Given the description of an element on the screen output the (x, y) to click on. 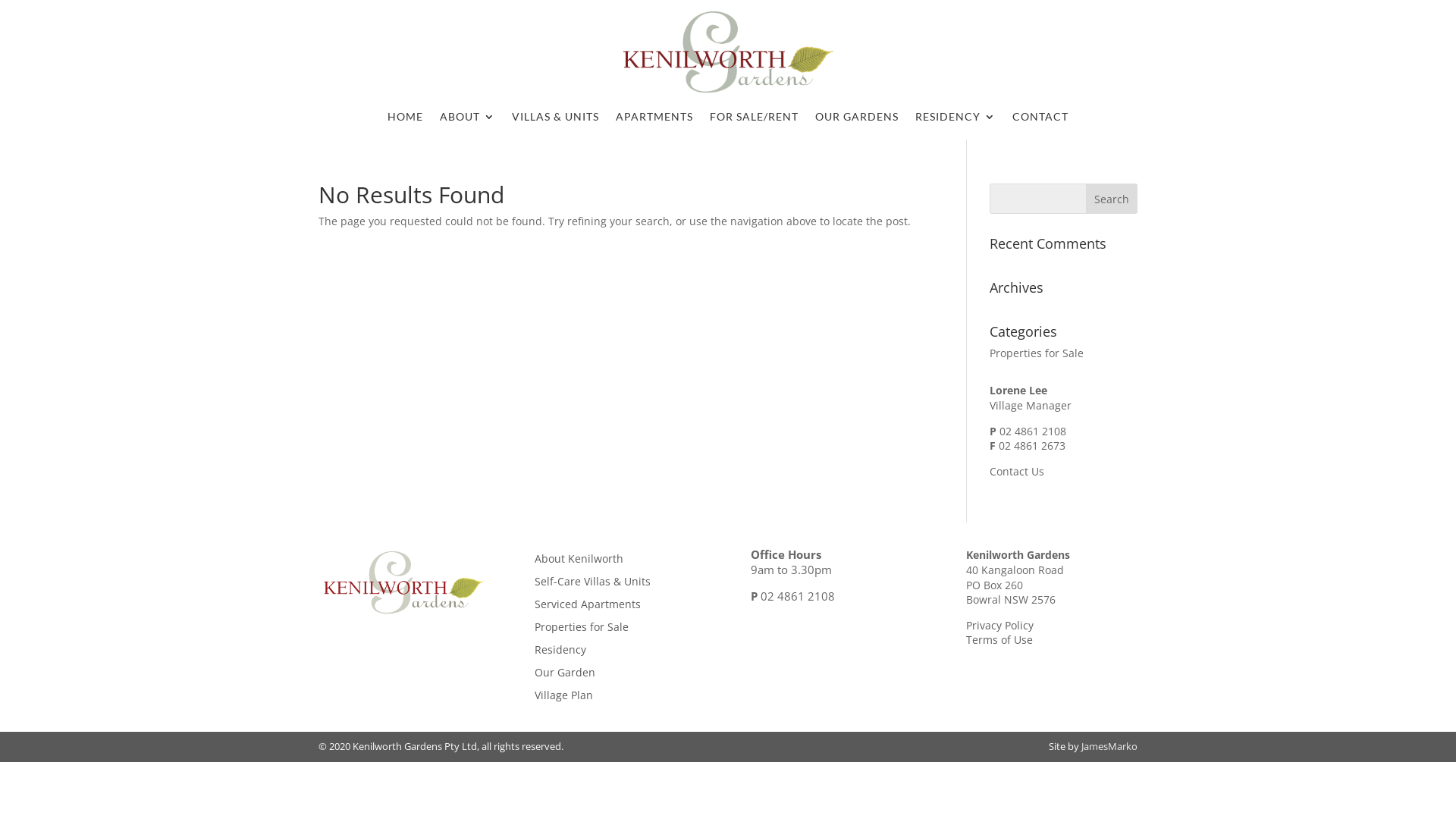
OUR GARDENS Element type: text (856, 119)
RESIDENCY Element type: text (955, 119)
Self-Care Villas & Units Element type: text (592, 584)
Properties for Sale Element type: text (581, 629)
Kenilworth Gardens Element type: hover (727, 52)
Search Element type: text (1111, 198)
ABOUT Element type: text (467, 119)
JamesMarko Element type: text (1109, 746)
FOR SALE/RENT Element type: text (753, 119)
HOME Element type: text (405, 119)
Residency Element type: text (560, 652)
APARTMENTS Element type: text (654, 119)
Contact Us Element type: text (1016, 471)
Village Plan Element type: text (563, 698)
Properties for Sale Element type: text (1036, 352)
Serviced Apartments Element type: text (587, 607)
Our Garden Element type: text (564, 675)
CONTACT Element type: text (1040, 119)
VILLAS & UNITS Element type: text (555, 119)
Privacy Policy Element type: text (999, 625)
logo-kenilworth-gardens Element type: hover (403, 583)
Terms of Use Element type: text (999, 639)
About Kenilworth Element type: text (578, 561)
